Given the description of an element on the screen output the (x, y) to click on. 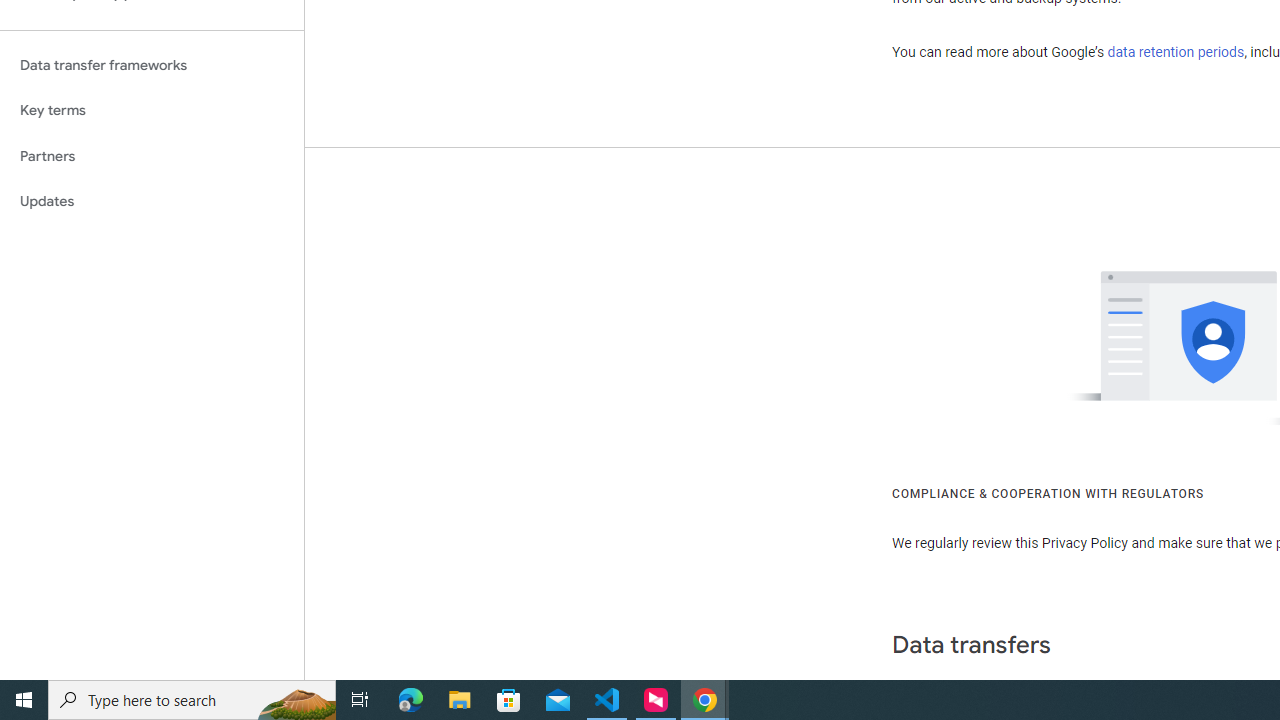
Updates (152, 201)
Partners (152, 156)
Key terms (152, 110)
data retention periods (1176, 52)
Data transfer frameworks (152, 65)
